Given the description of an element on the screen output the (x, y) to click on. 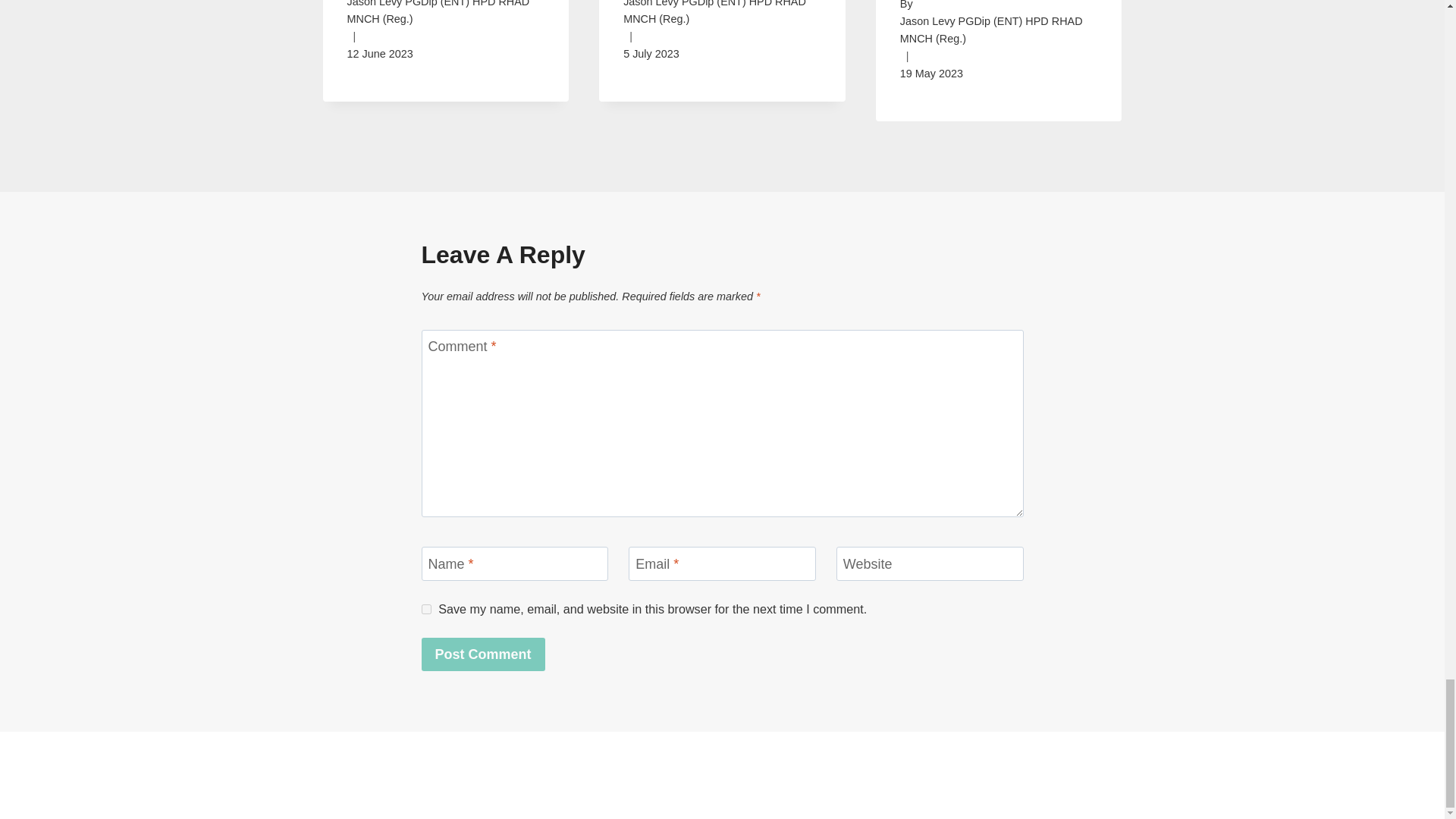
yes (426, 609)
Post Comment (483, 654)
